Given the description of an element on the screen output the (x, y) to click on. 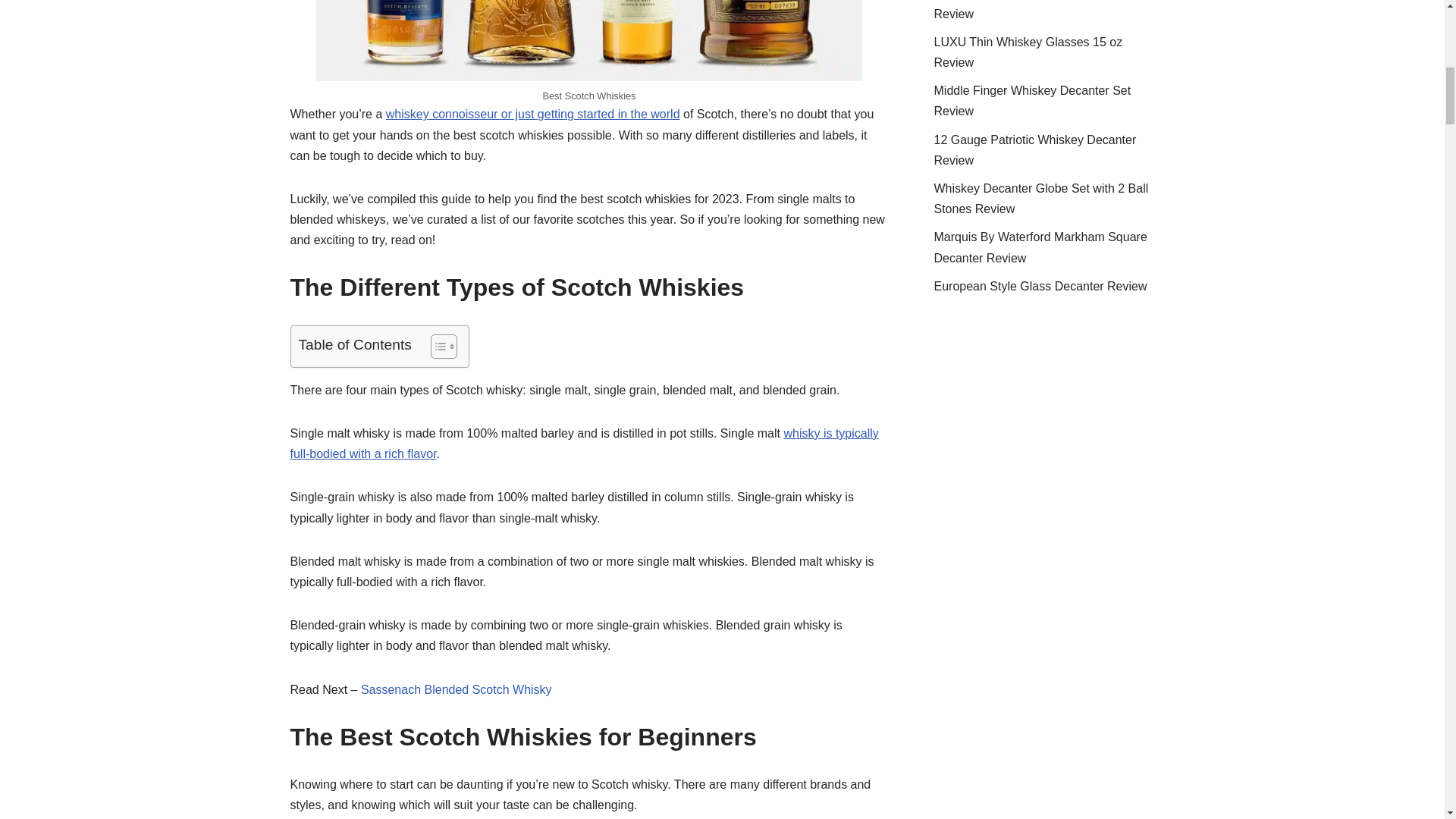
whiskey connoisseur or just getting started in the world (532, 113)
